Given the description of an element on the screen output the (x, y) to click on. 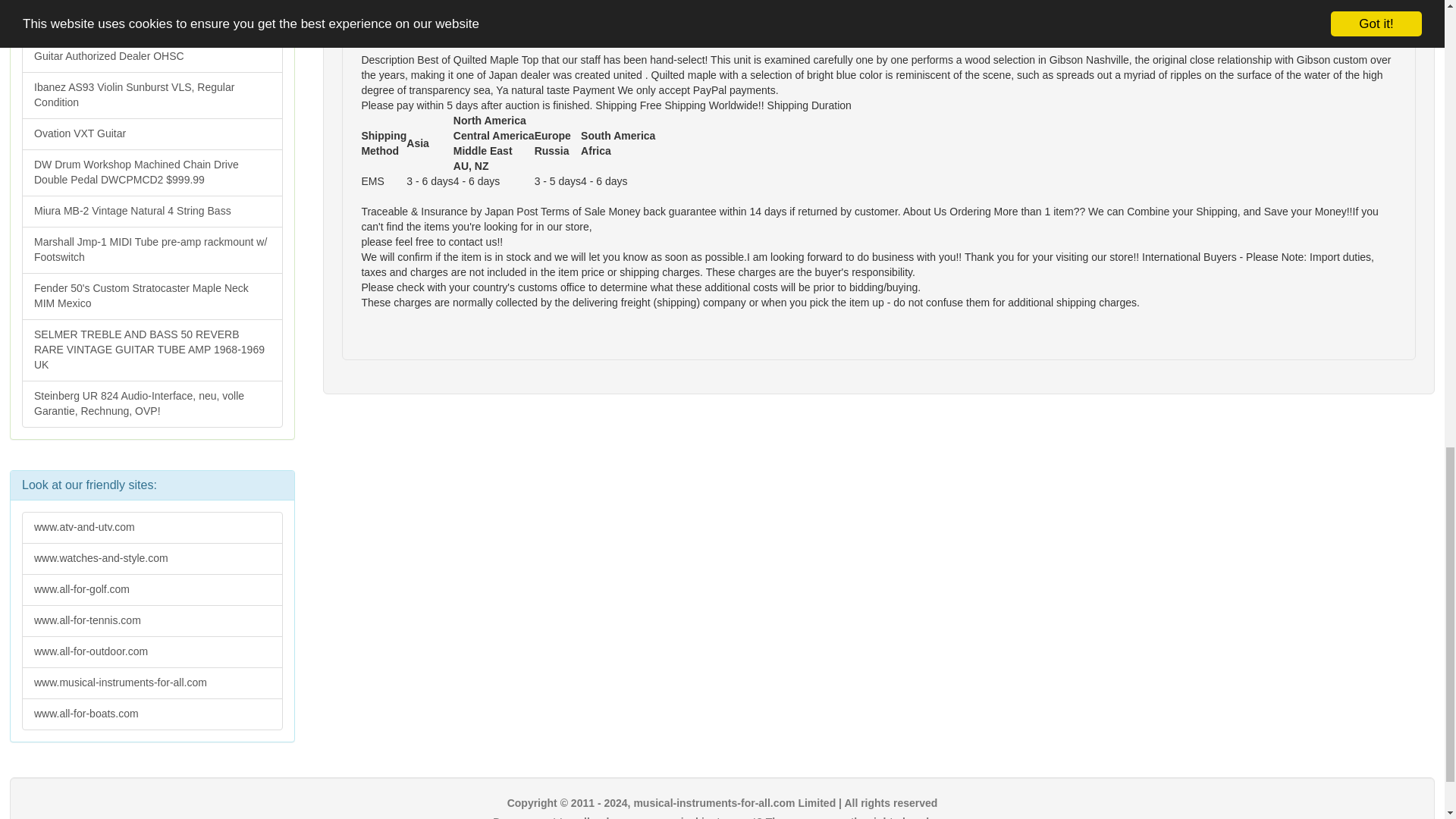
www.all-for-boats.com (151, 714)
Miura MB-2 Vintage Natural 4 String Bass (151, 211)
www.all-for-tennis.com (151, 621)
www.watches-and-style.com (151, 558)
www.all-for-outdoor.com (151, 652)
www.atv-and-utv.com (151, 527)
Ibanez AS93 Violin Sunburst VLS, Regular Condition (151, 95)
Fender 50's Custom Stratocaster Maple Neck MIM Mexico (151, 296)
Ovation VXT Guitar (151, 133)
www.all-for-golf.com (151, 590)
www.musical-instruments-for-all.com (151, 683)
